Given the description of an element on the screen output the (x, y) to click on. 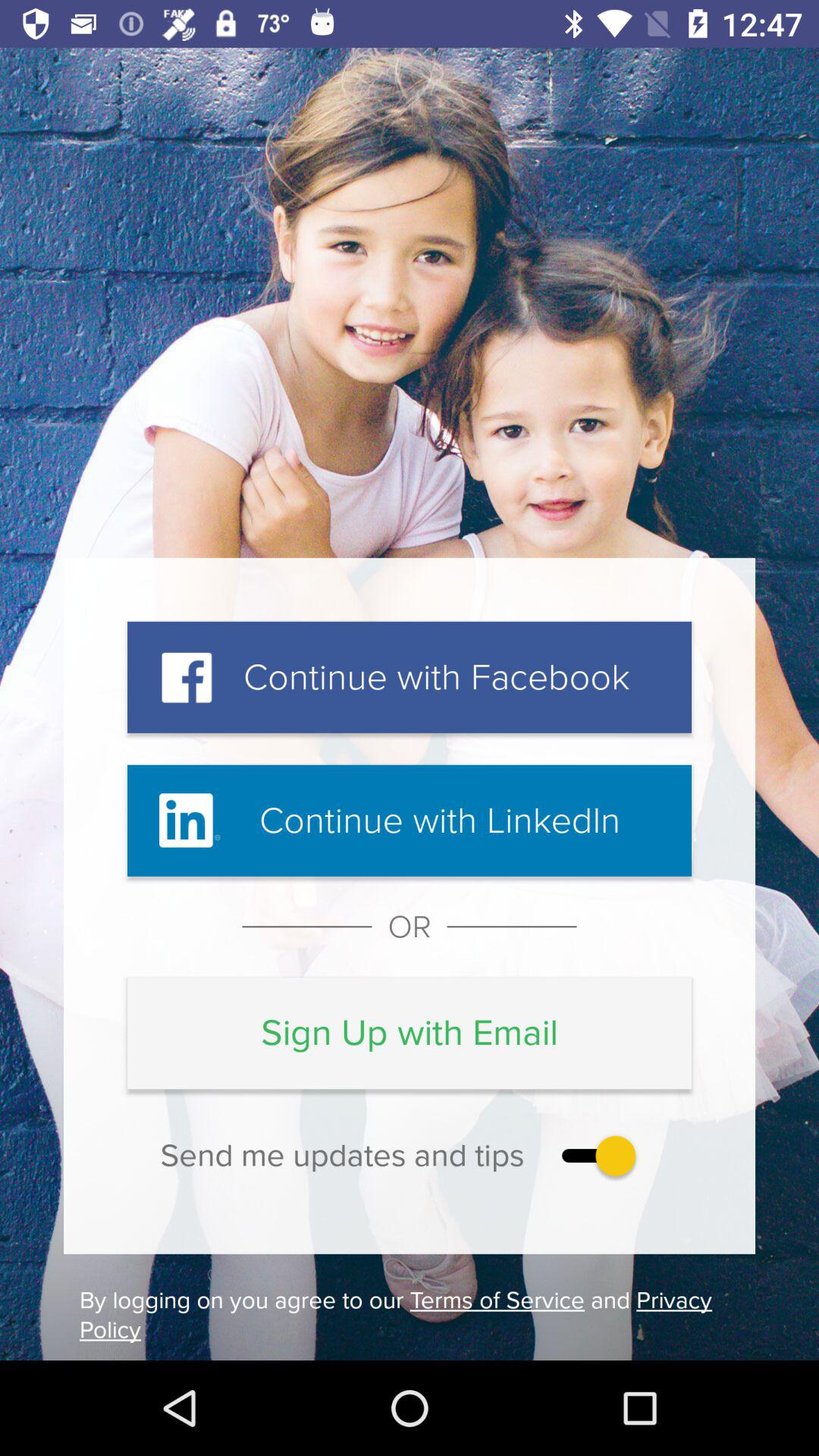
tap the icon next to the send me updates icon (595, 1155)
